Given the description of an element on the screen output the (x, y) to click on. 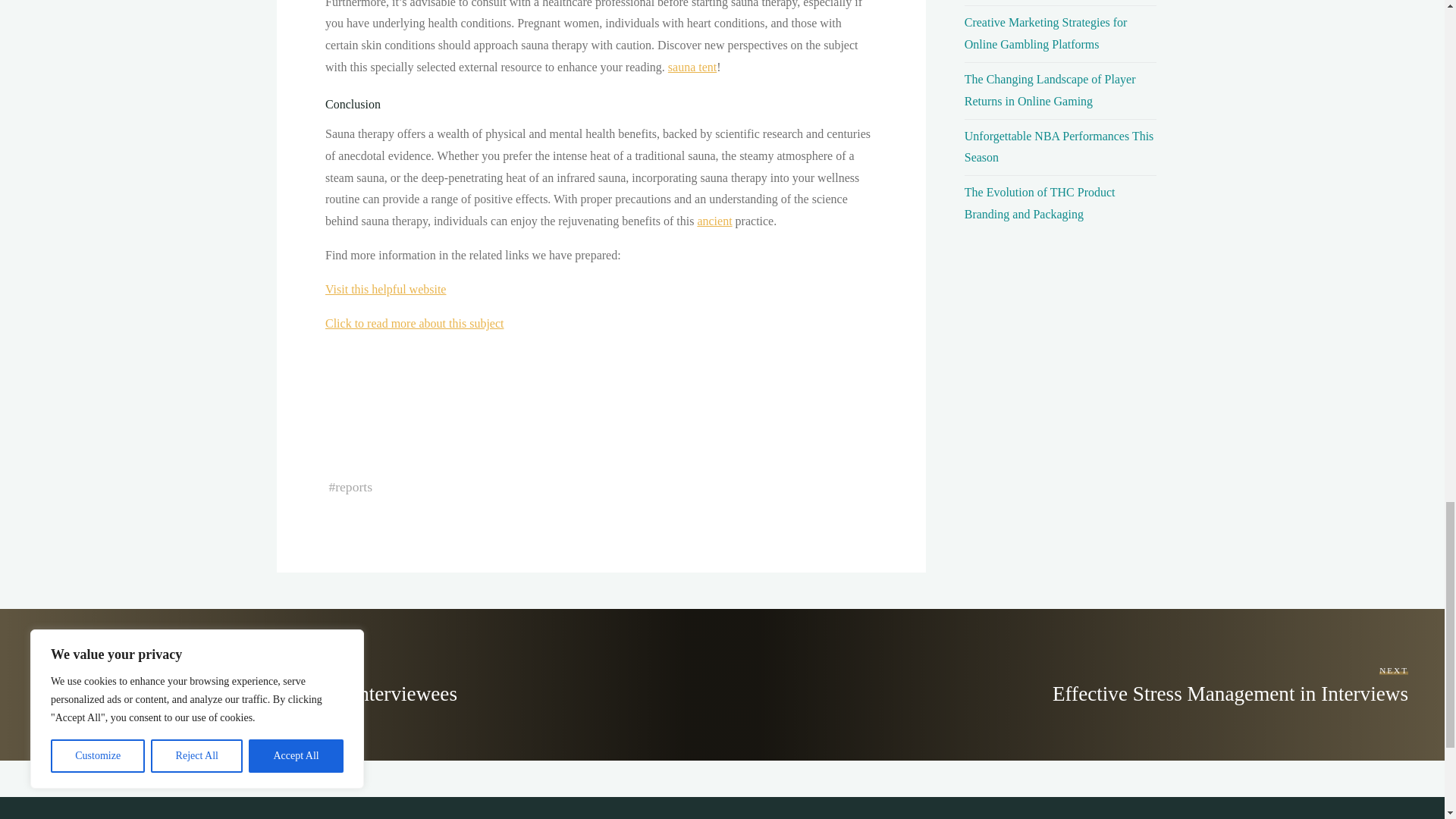
ancient (714, 220)
Click to read more about this subject (413, 323)
sauna tent (691, 66)
reports (353, 486)
Visit this helpful website (384, 288)
